Given the description of an element on the screen output the (x, y) to click on. 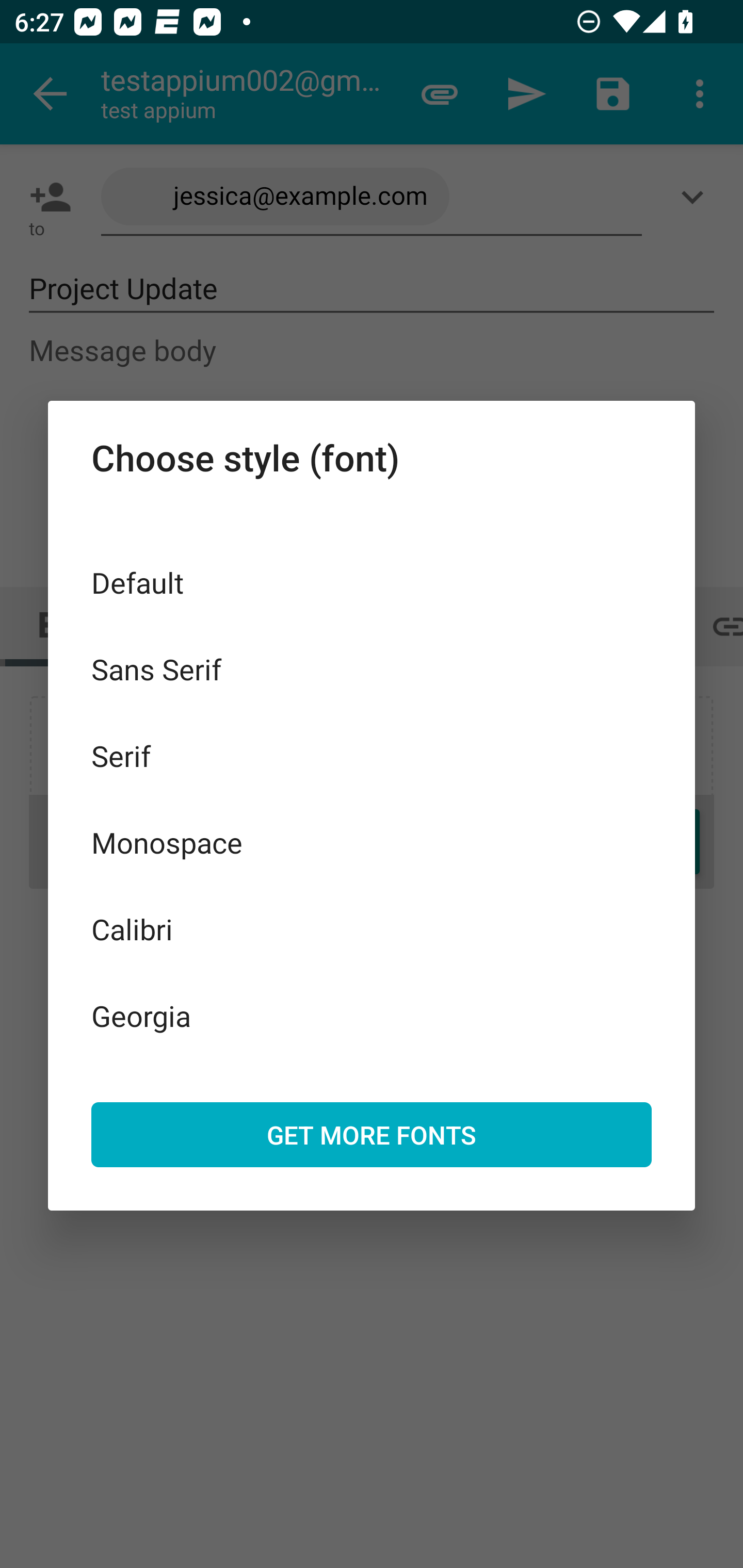
Default (371, 582)
Sans Serif (371, 668)
Serif (371, 755)
Monospace (371, 842)
Calibri (371, 928)
Georgia (371, 1015)
GET MORE FONTS (371, 1134)
